Given the description of an element on the screen output the (x, y) to click on. 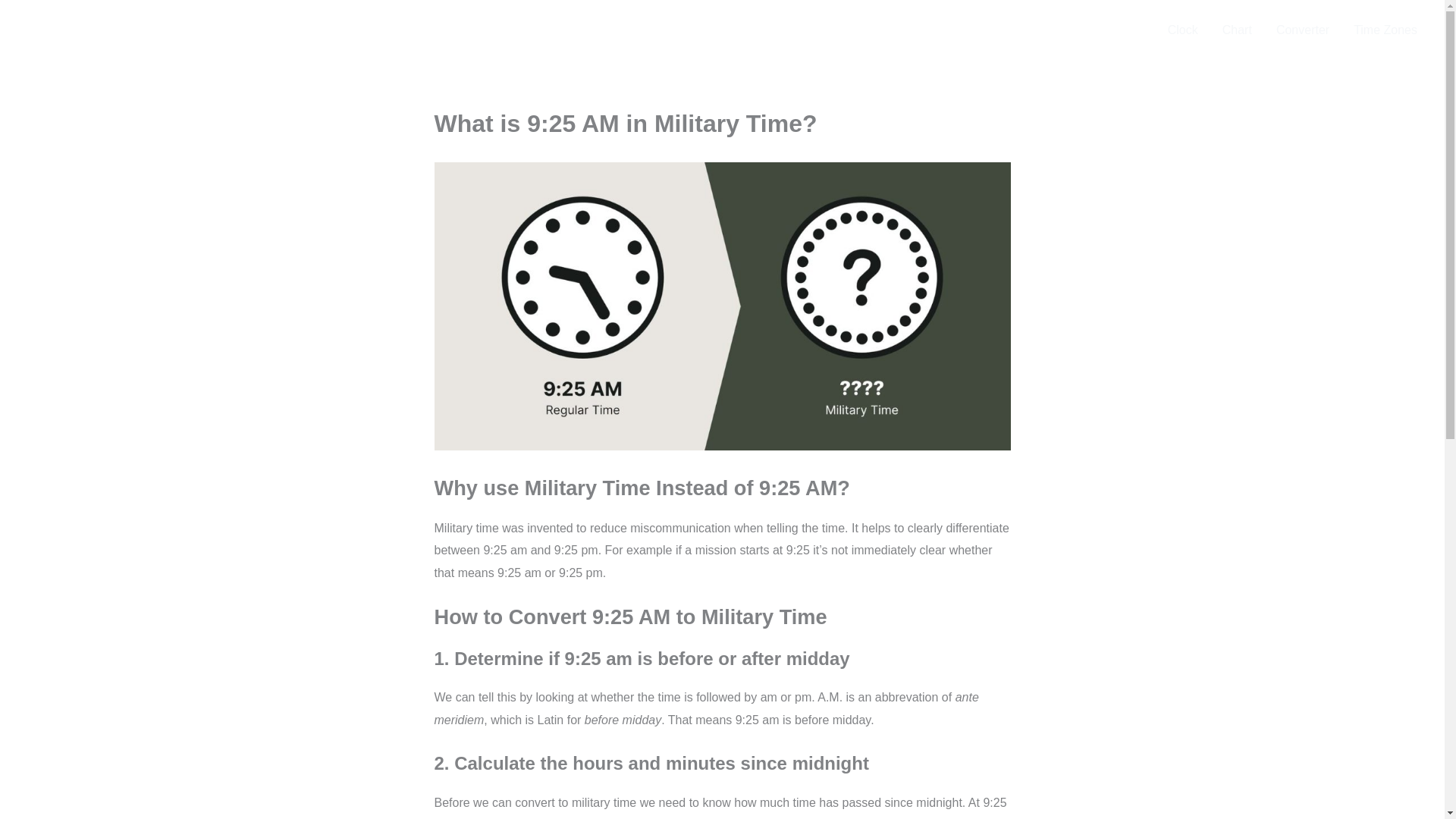
Clock (1182, 30)
Military Time (103, 29)
Chart (1236, 30)
Time Zones (1384, 30)
Converter (1301, 30)
